Given the description of an element on the screen output the (x, y) to click on. 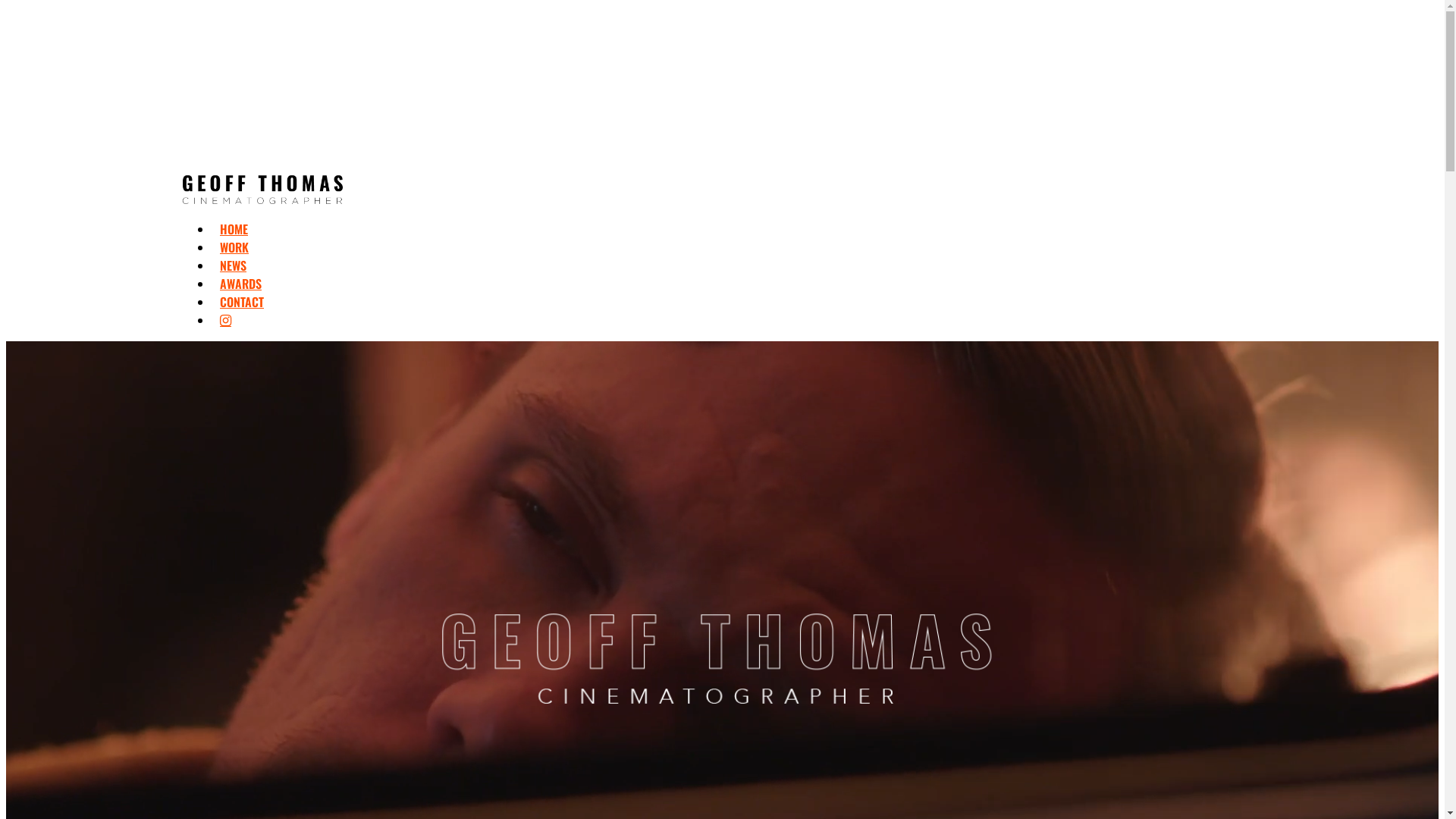
HOME Element type: text (233, 228)
AWARDS Element type: text (240, 283)
NEWS Element type: text (232, 265)
CONTACT Element type: text (241, 301)
WORK Element type: text (233, 247)
